Given the description of an element on the screen output the (x, y) to click on. 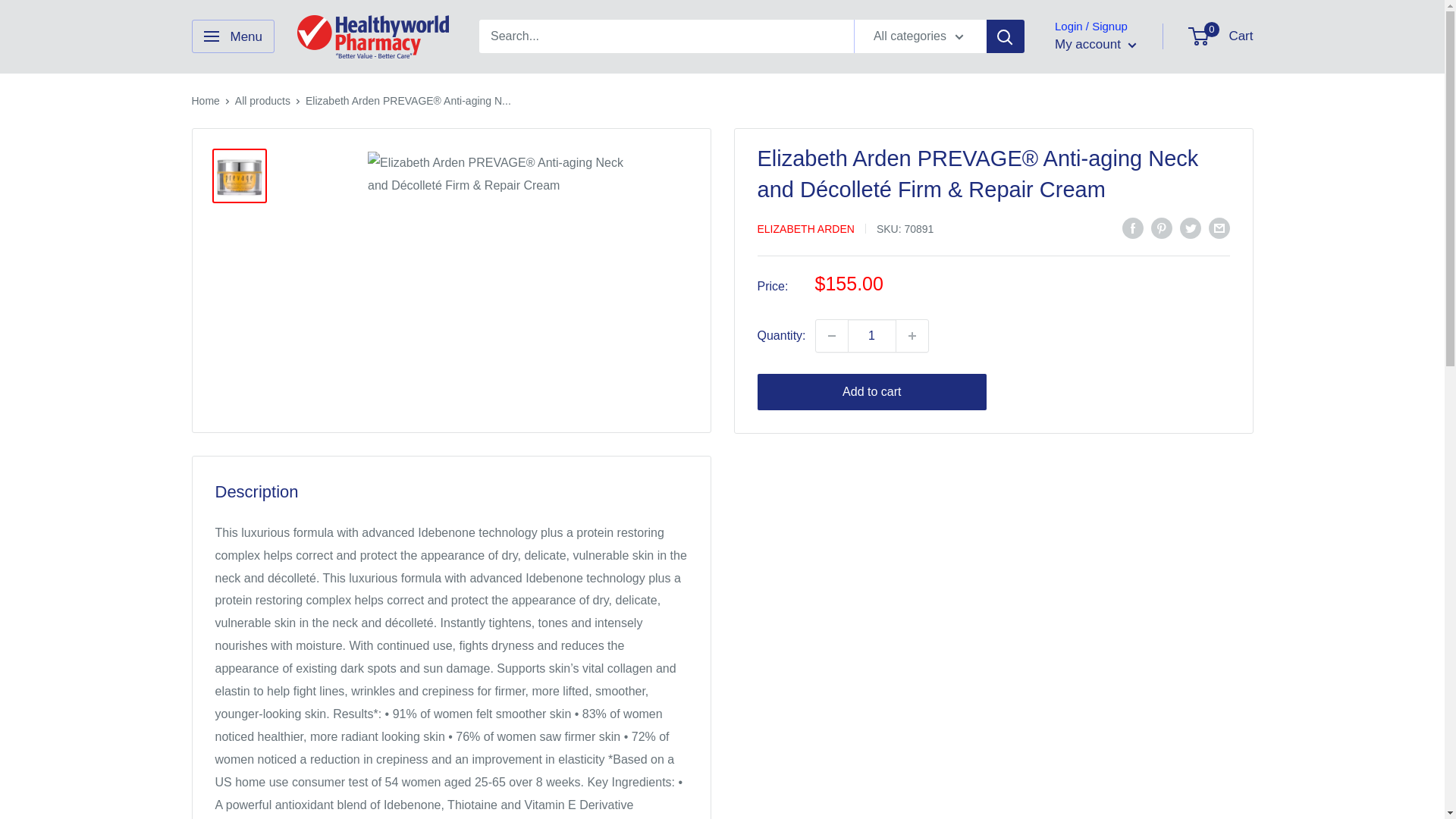
1 (871, 336)
Increase quantity by 1 (912, 336)
Decrease quantity by 1 (831, 336)
